Given the description of an element on the screen output the (x, y) to click on. 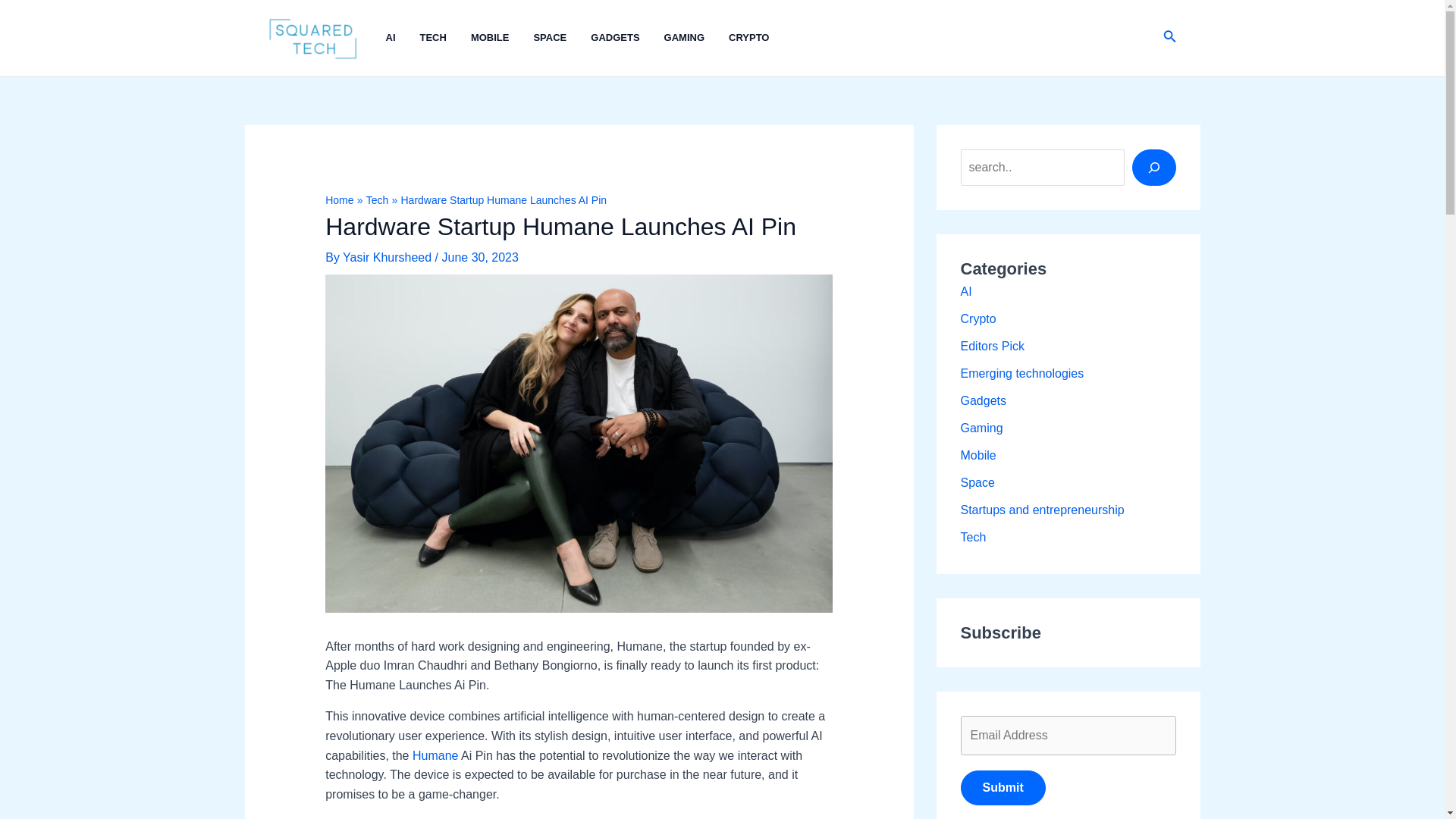
Yasir Khursheed (388, 256)
Home (338, 200)
Tech (377, 200)
View all posts by Yasir Khursheed (388, 256)
GADGETS (627, 38)
Humane (435, 755)
